Given the description of an element on the screen output the (x, y) to click on. 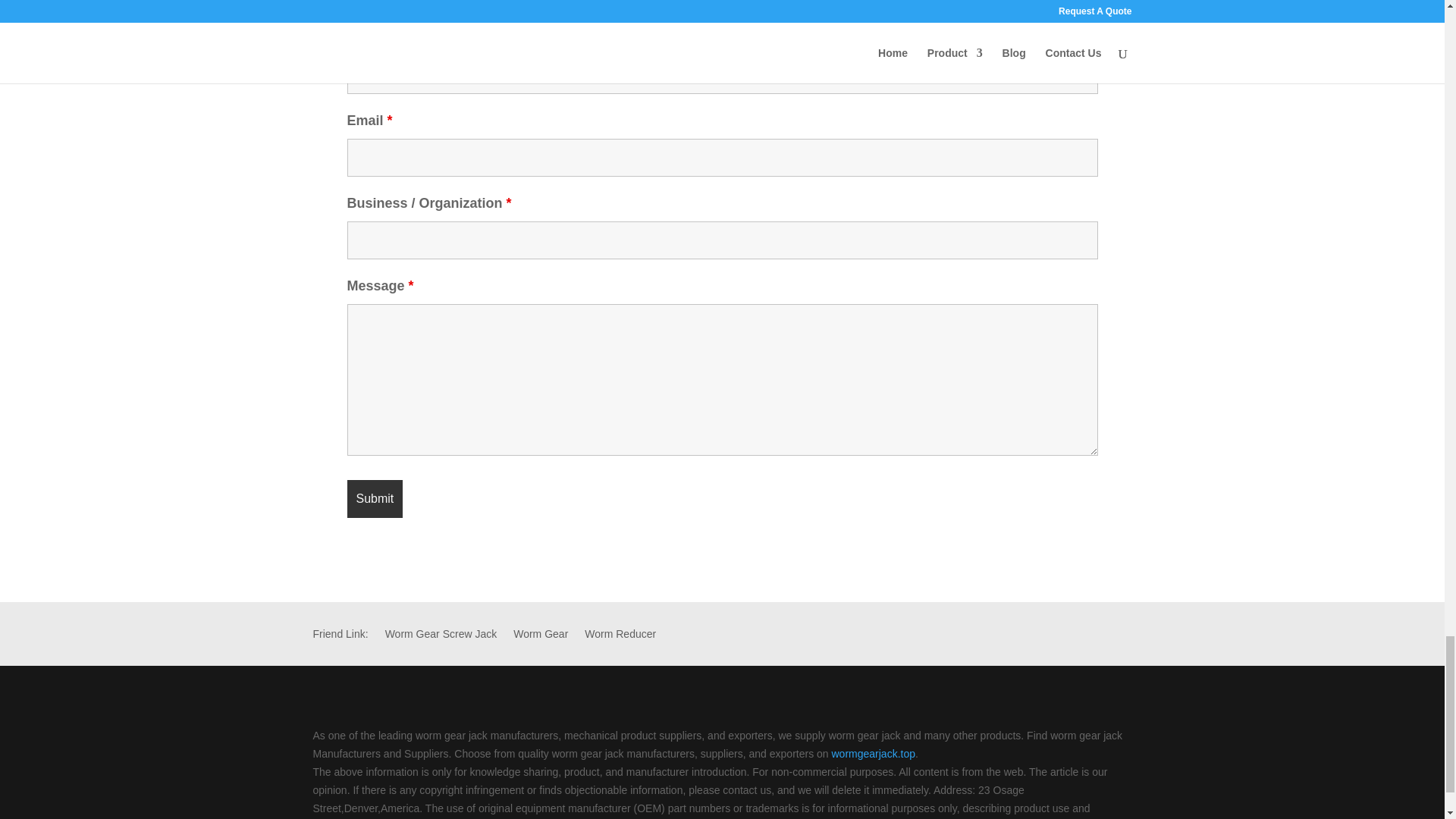
Submit (375, 498)
